Given the description of an element on the screen output the (x, y) to click on. 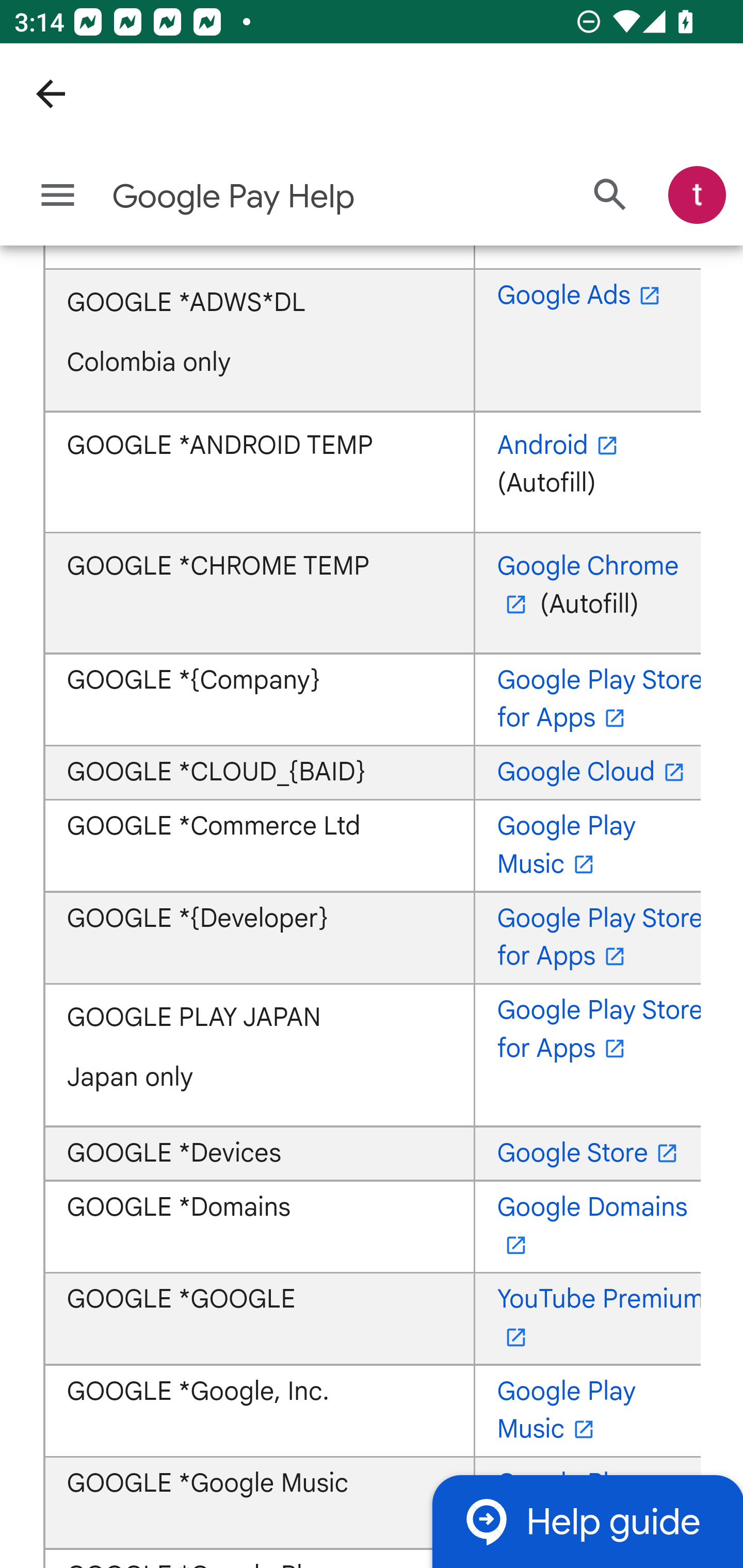
Navigate up (50, 93)
Main menu (58, 195)
Google Pay Help (292, 197)
Search Help Center (610, 195)
Google Ads (581, 296)
Android (561, 446)
Google Chrome (588, 586)
Google Play Store for Apps (599, 700)
Google Cloud (593, 772)
Google Play Music (566, 846)
Google Play Store for Apps (599, 939)
Google Play Store for Apps (599, 1030)
Google Store (591, 1153)
Google Domains (592, 1227)
YouTube Premium (599, 1318)
Google Play Music (566, 1411)
Help guide (587, 1520)
